Given the description of an element on the screen output the (x, y) to click on. 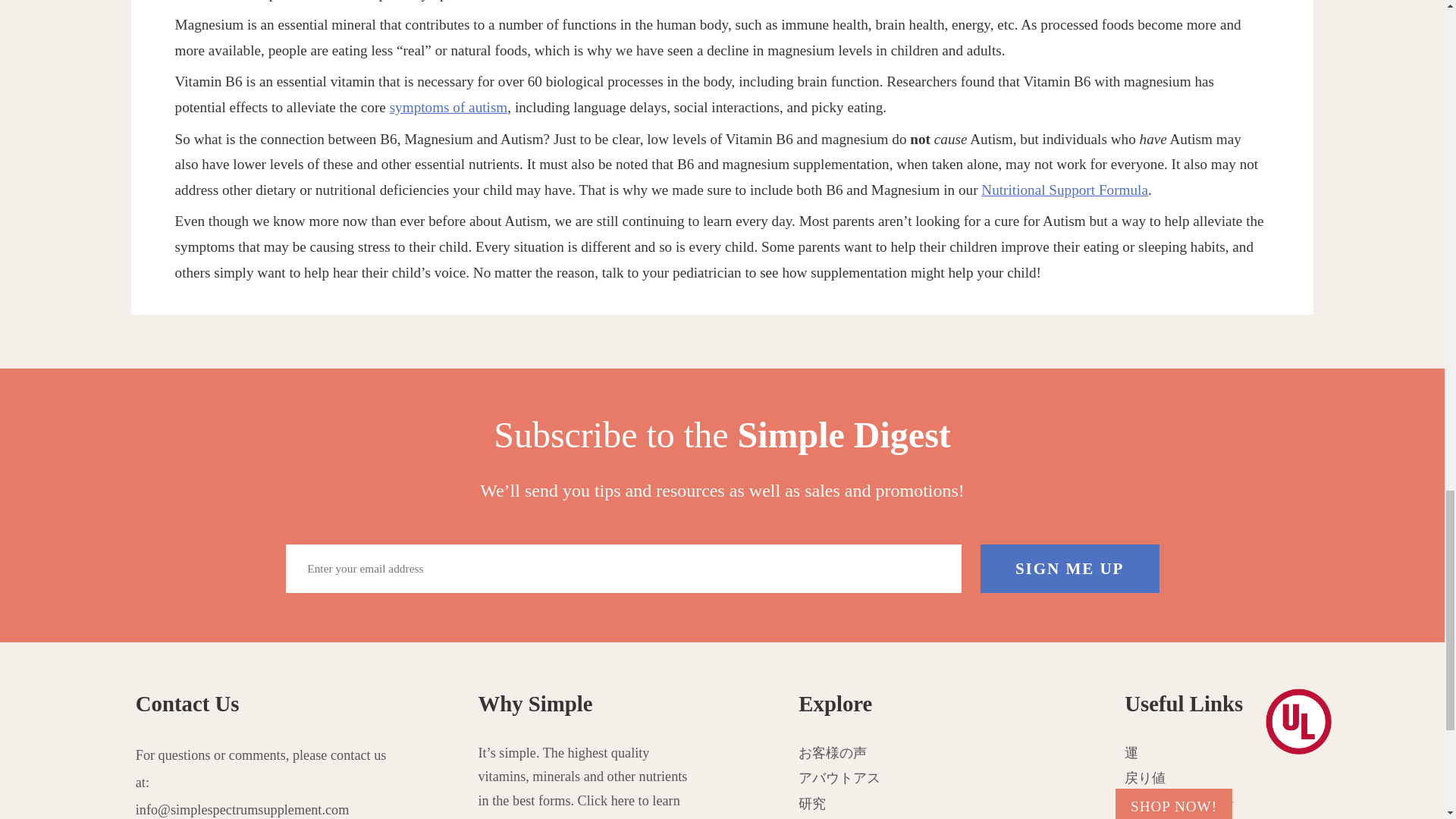
Nutritional Support Formula (1064, 189)
symptoms of autism (449, 107)
SIGN ME UP (1068, 568)
